Given the description of an element on the screen output the (x, y) to click on. 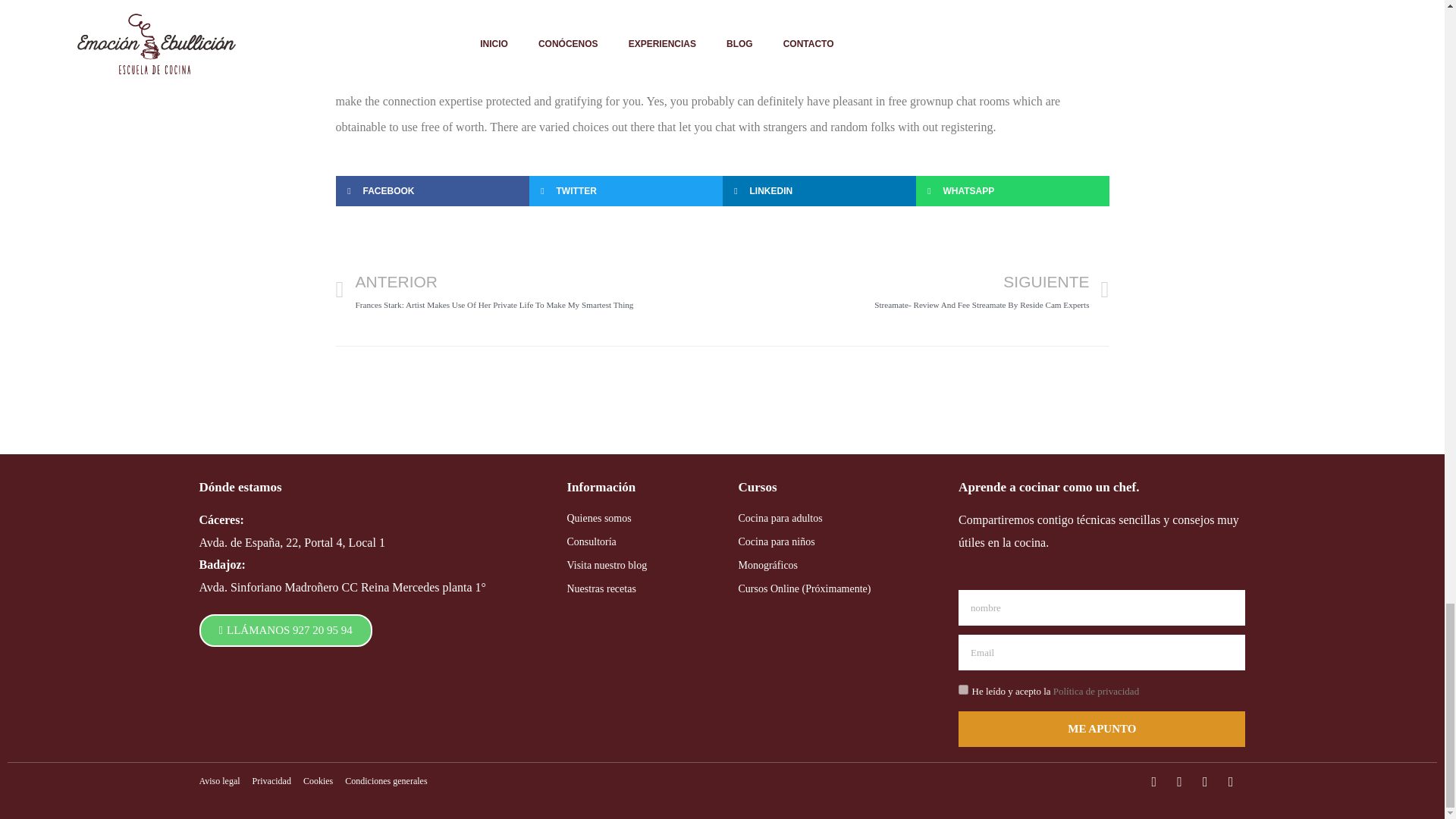
on (963, 689)
